Given the description of an element on the screen output the (x, y) to click on. 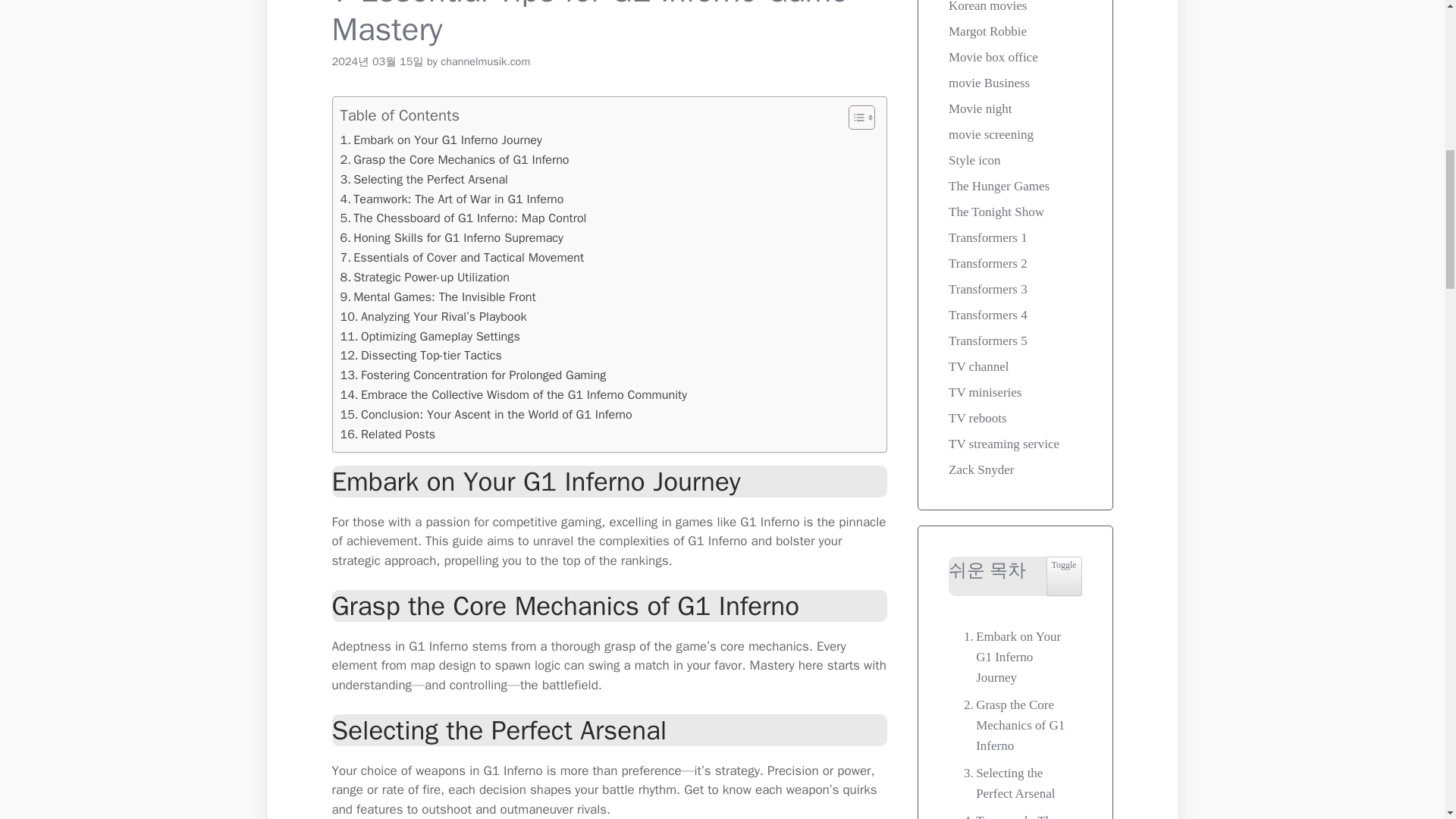
Embark on Your G1 Inferno Journey (440, 139)
Conclusion: Your Ascent in the World of G1 Inferno (485, 414)
Selecting the Perfect Arsenal (422, 179)
Strategic Power-up Utilization (423, 277)
Selecting the Perfect Arsenal (422, 179)
Teamwork: The Art of War in G1 Inferno (451, 199)
Related Posts (387, 434)
Embrace the Collective Wisdom of the G1 Inferno Community (512, 394)
Dissecting Top-tier Tactics (419, 355)
Optimizing Gameplay Settings (429, 335)
